Given the description of an element on the screen output the (x, y) to click on. 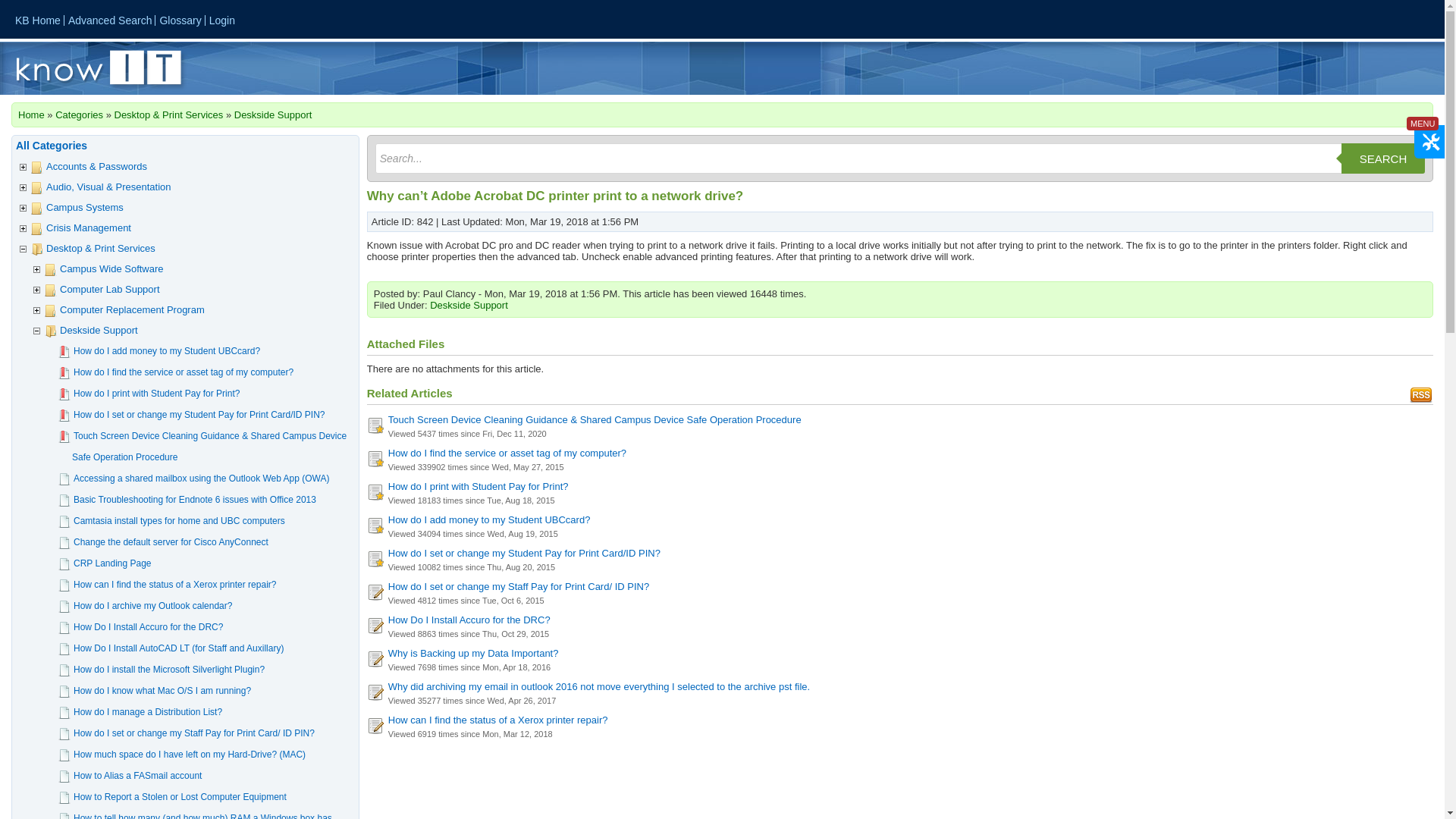
How can I find the status of a Xerox printer repair? (177, 584)
Advanced Search (110, 20)
Campus Wide Software (114, 268)
Home (31, 114)
Camtasia install types for home and UBC computers (181, 521)
Deskside Support (273, 114)
Crisis Management (91, 227)
How do I add money to my Student UBCcard? (169, 350)
All Categories (51, 145)
Change the default server for Cisco AnyConnect (173, 541)
Basic Troubleshooting for Endnote 6 issues with Office 2013 (197, 499)
How do I archive my Outlook calendar? (155, 605)
KB Home (37, 20)
Login Now (221, 20)
Computer Replacement Program (135, 309)
